Given the description of an element on the screen output the (x, y) to click on. 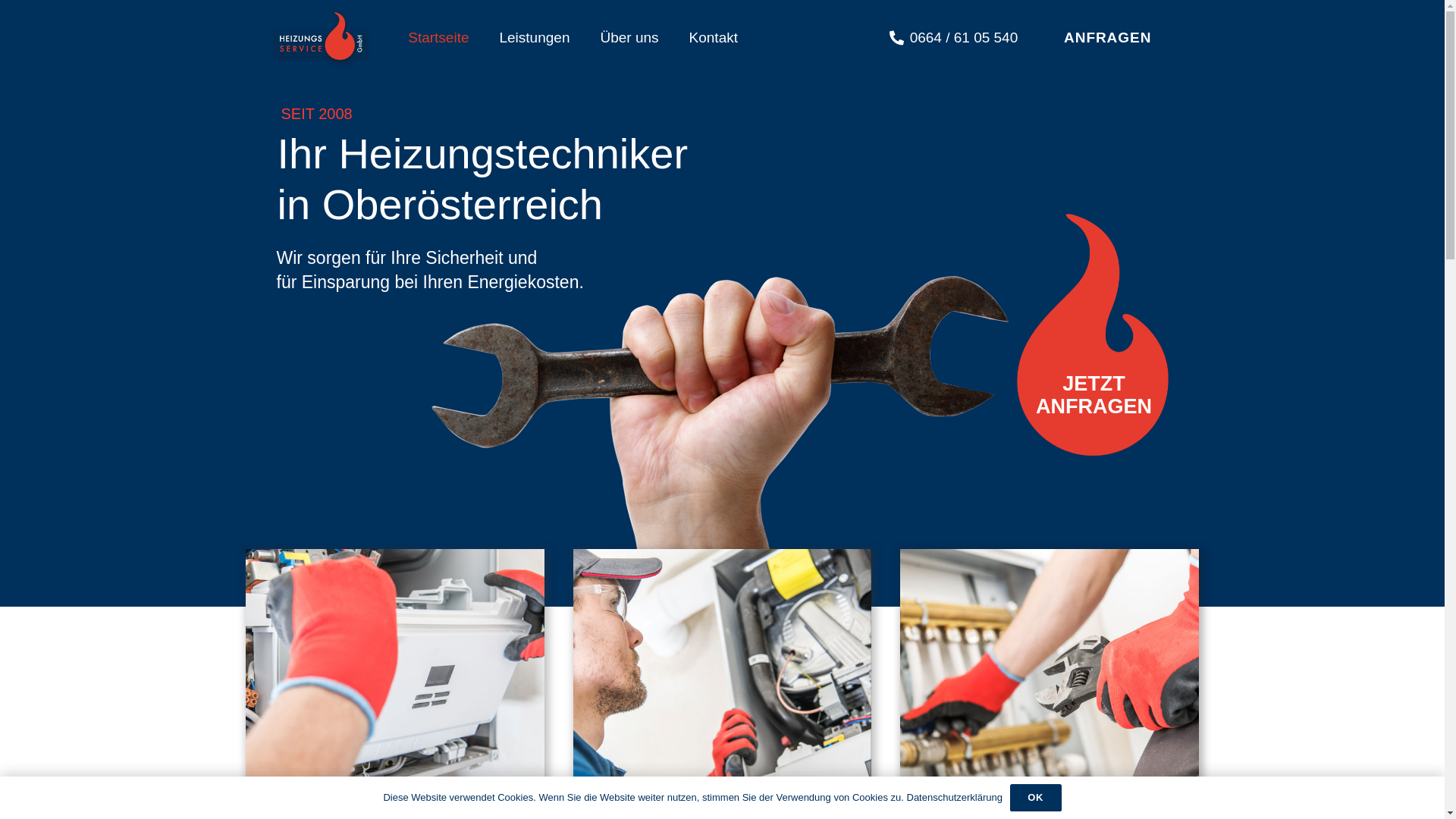
0664 / 61 05 540 Element type: text (953, 37)
Leistungen Element type: text (533, 37)
JETZT
ANFRAGEN Element type: text (1087, 392)
Kontakt Element type: text (713, 37)
Startseite Element type: text (437, 37)
ANFRAGEN Element type: text (1107, 37)
OK Element type: text (1035, 797)
